Given the description of an element on the screen output the (x, y) to click on. 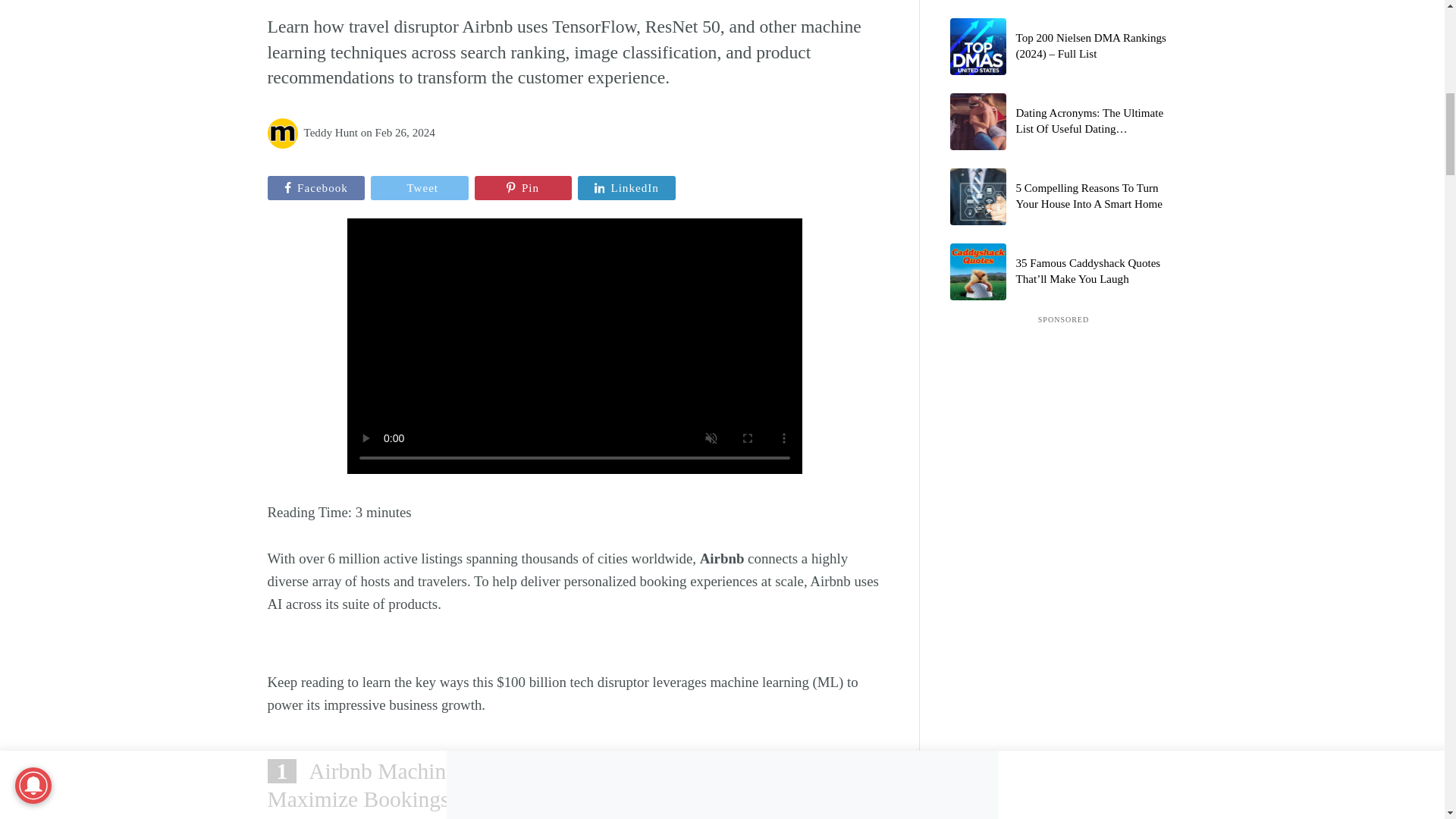
Share on Facebook (315, 187)
Share on Twitter (419, 187)
Share on LinkedIn (626, 187)
Share on Pinterest (523, 187)
